Given the description of an element on the screen output the (x, y) to click on. 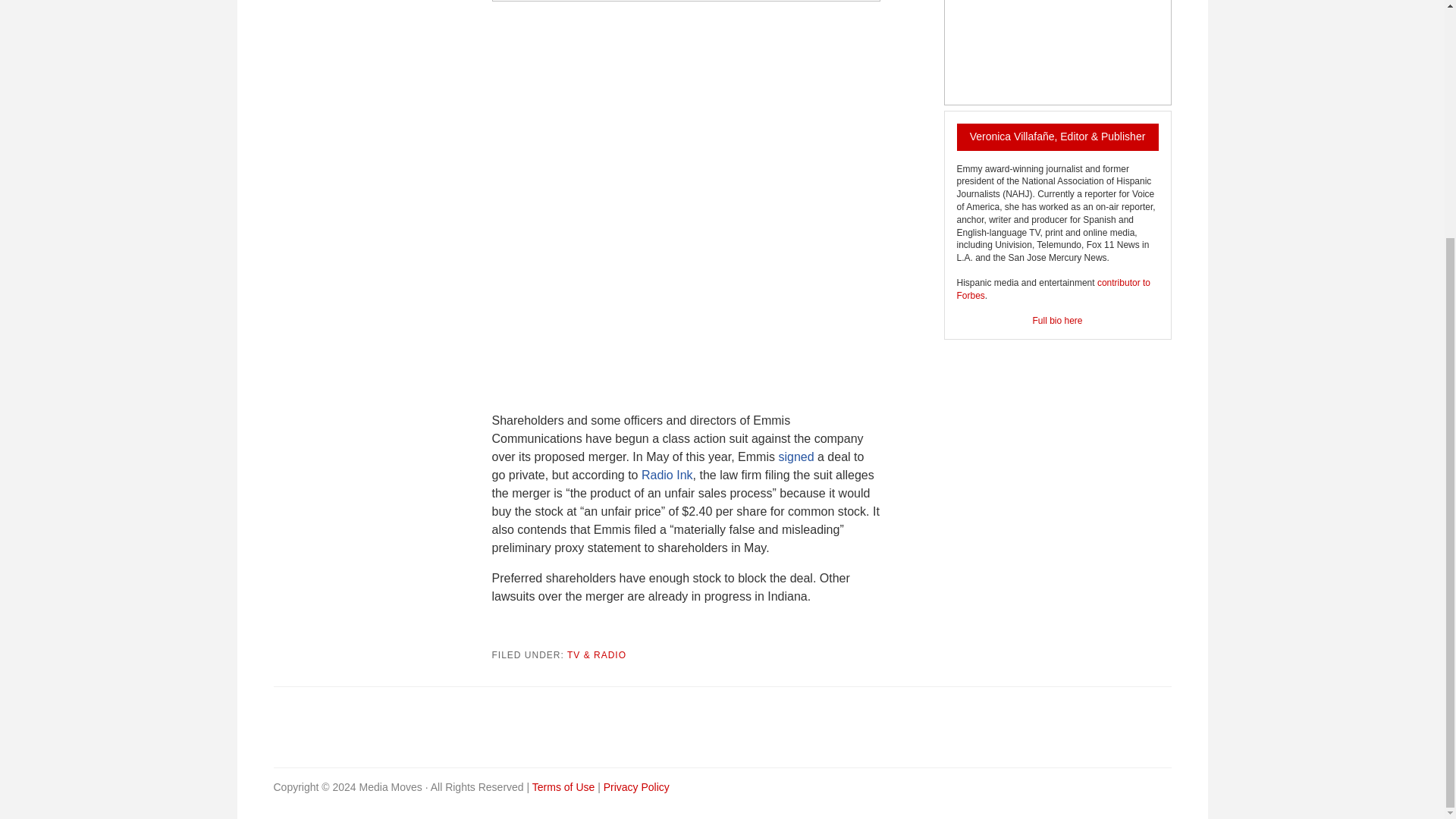
Radio Ink (667, 474)
signed (795, 456)
contributor to Forbes (1053, 289)
